Given the description of an element on the screen output the (x, y) to click on. 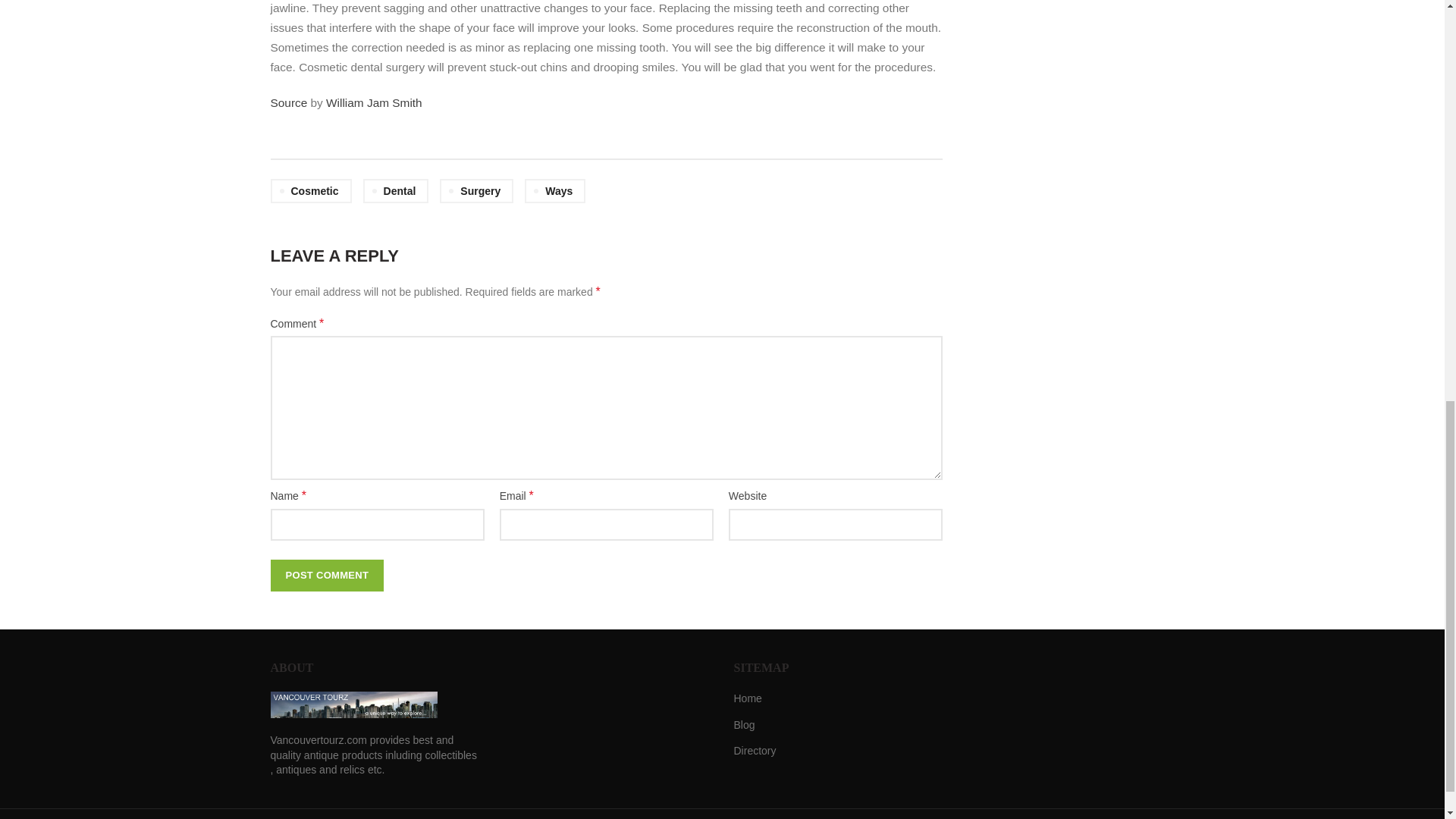
Directory (755, 751)
Blog (745, 725)
Ways (554, 191)
William Jam Smith (374, 102)
Dental (395, 191)
Source (288, 102)
Post Comment (326, 575)
Post Comment (326, 575)
Cosmetic (309, 191)
Home (747, 698)
Surgery (476, 191)
